Given the description of an element on the screen output the (x, y) to click on. 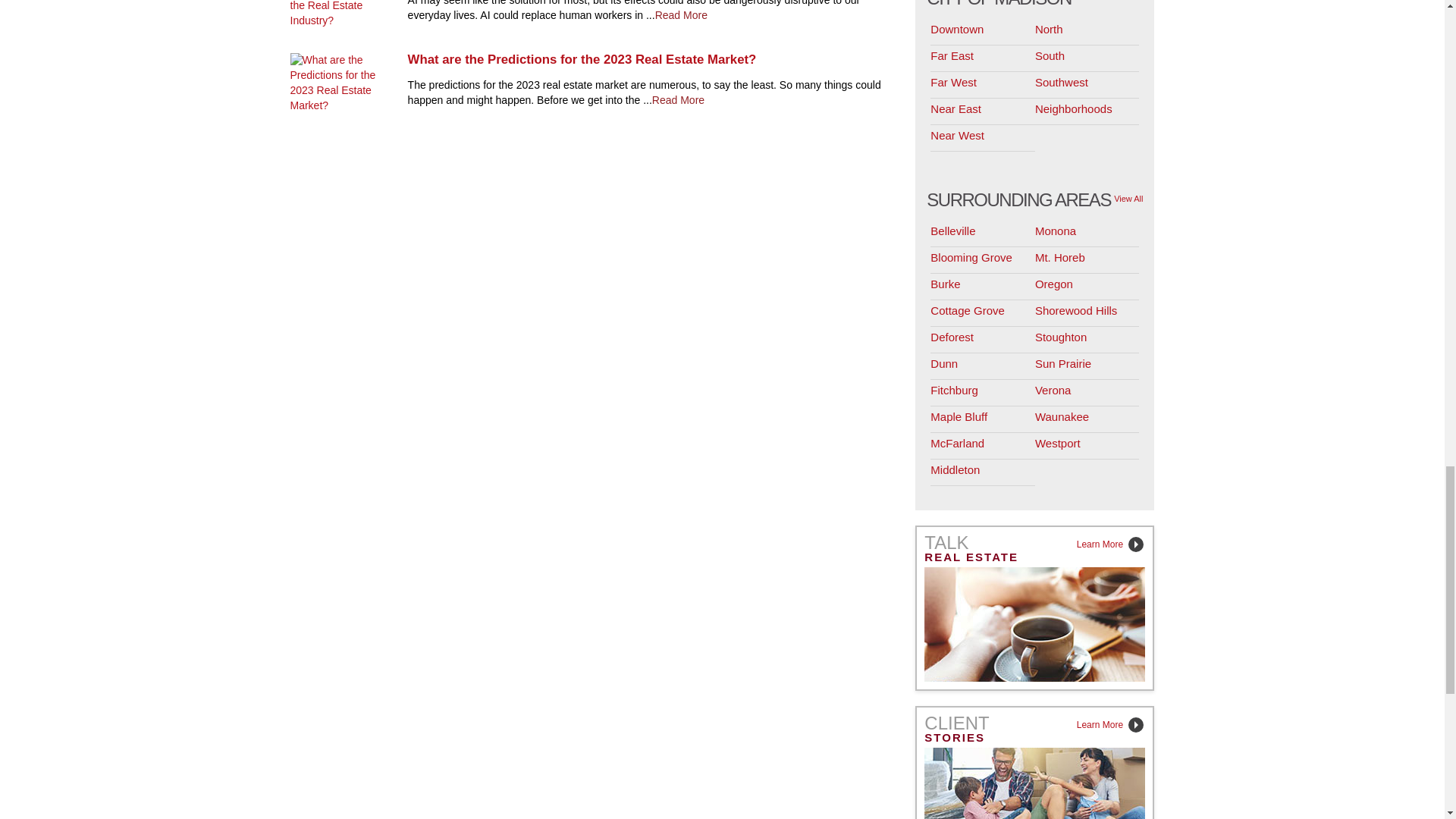
What are the Predictions for the 2023 Real Estate Market? (650, 59)
